Given the description of an element on the screen output the (x, y) to click on. 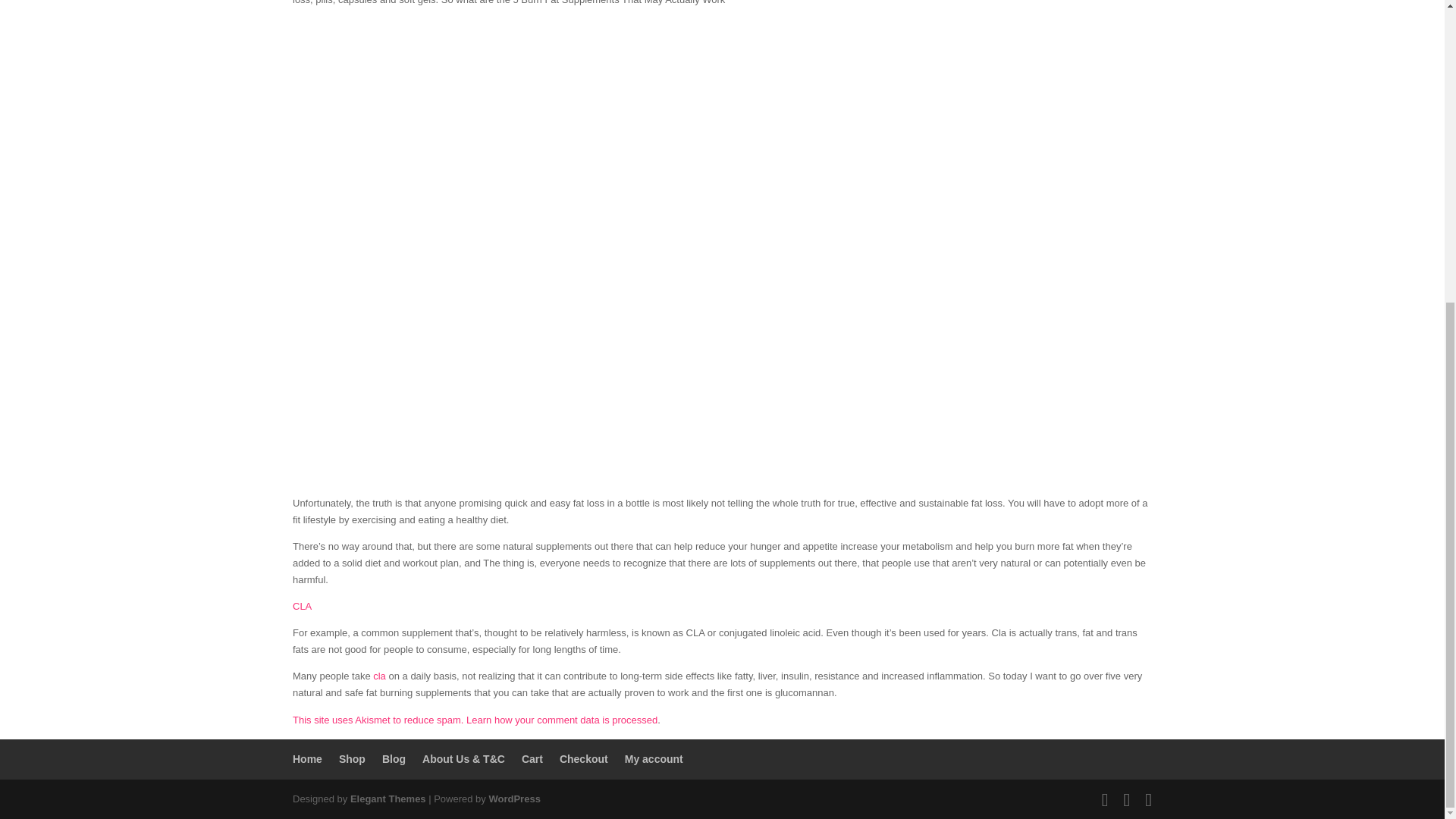
cla (380, 675)
Blog (393, 758)
This site uses Akismet to reduce spam. (378, 719)
Learn how your comment data is processed (561, 719)
WordPress (513, 798)
Home (306, 758)
Premium WordPress Themes (388, 798)
Checkout (583, 758)
CLA (301, 605)
Elegant Themes (388, 798)
Shop (352, 758)
My account (653, 758)
Cart (532, 758)
